Given the description of an element on the screen output the (x, y) to click on. 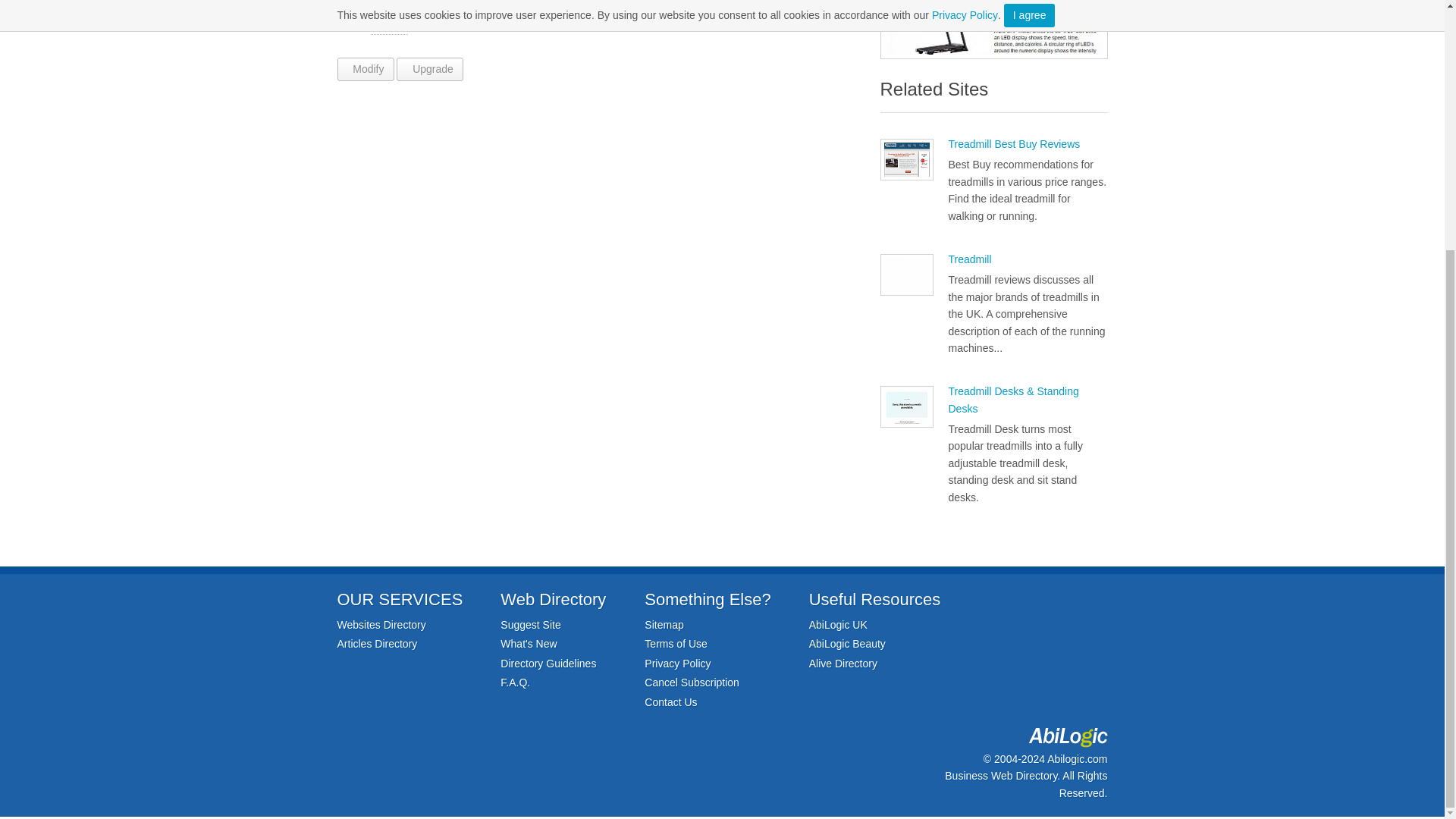
Websites Directory (380, 624)
  Upgrade (429, 69)
Treadmill (969, 259)
Articles Directory (376, 644)
  Modify (364, 69)
Advertisement (600, 217)
Treadmill Best Buy Reviews (1013, 143)
